Given the description of an element on the screen output the (x, y) to click on. 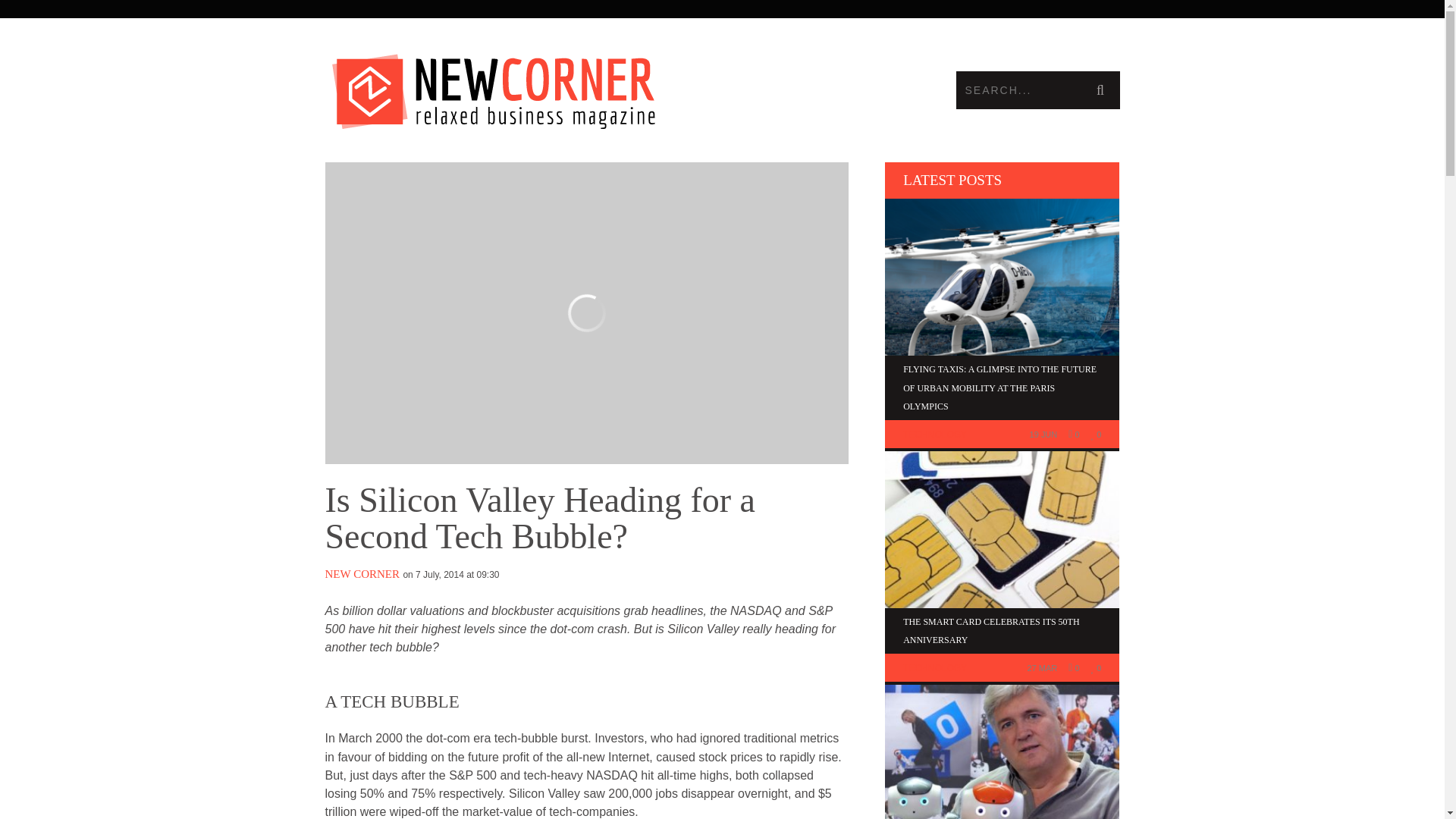
NEW CORNER (361, 573)
THE SMART CARD CELEBRATES ITS 50TH ANNIVERSARY (990, 630)
TECHNOLOGY (934, 434)
TECHNOLOGY (934, 667)
View all posts in Technology (934, 434)
Posts by New Corner (361, 573)
New Corner (523, 87)
View all posts in Technology (934, 667)
